Given the description of an element on the screen output the (x, y) to click on. 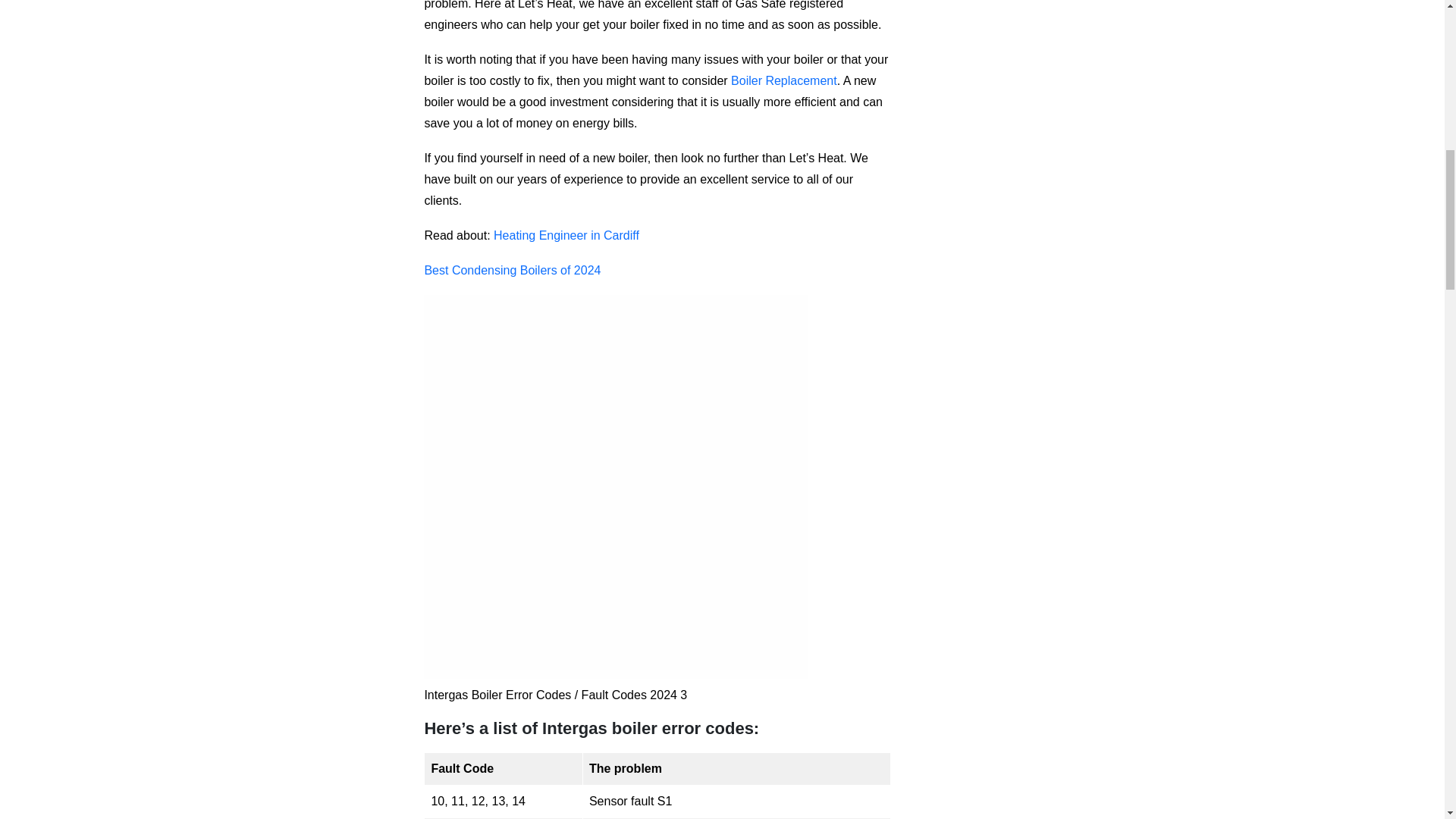
Best Condensing Boilers of 2024 (511, 269)
Heating Engineer in Cardiff (566, 235)
Boiler Replacement (783, 80)
